Given the description of an element on the screen output the (x, y) to click on. 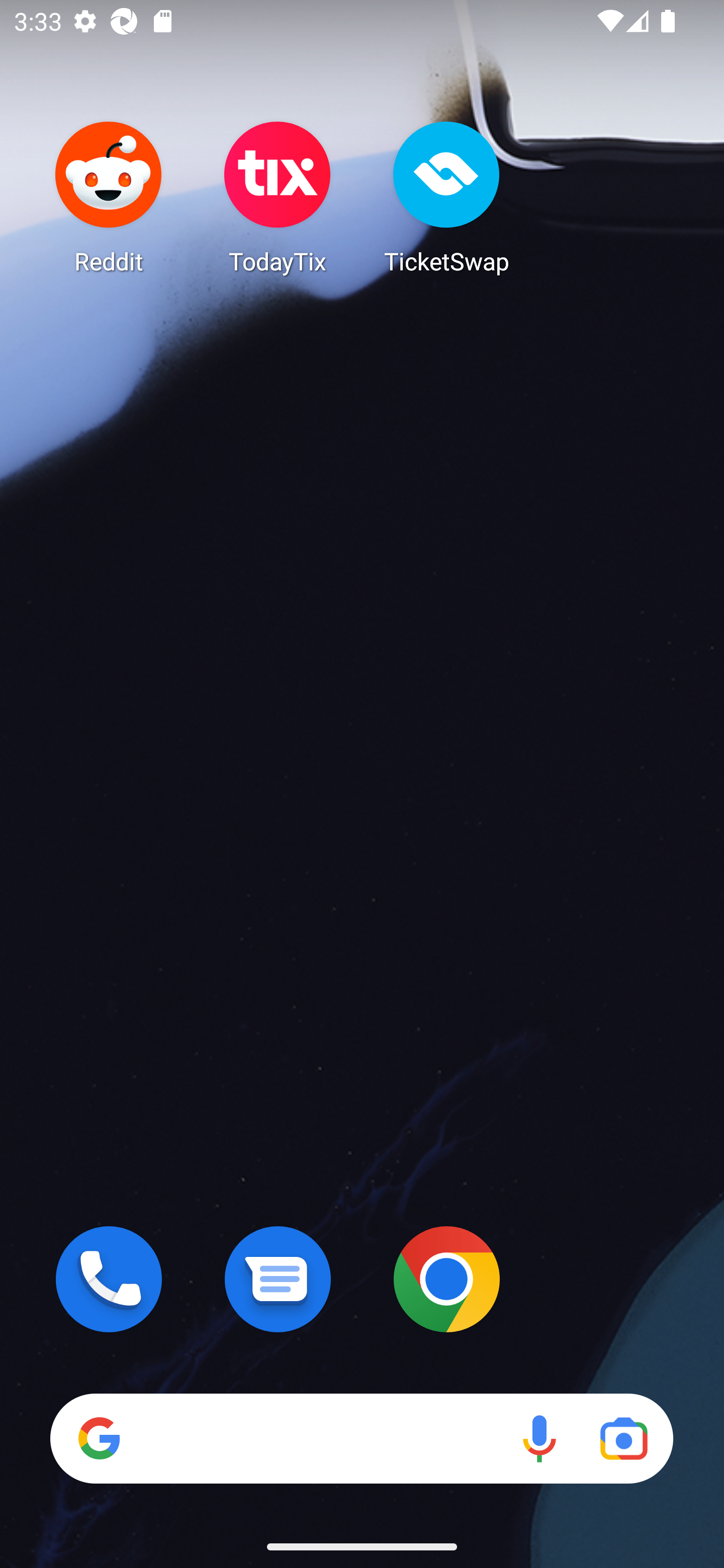
Reddit (108, 196)
TodayTix (277, 196)
TicketSwap (445, 196)
Phone (108, 1279)
Messages (277, 1279)
Chrome (446, 1279)
Voice search (539, 1438)
Google Lens (623, 1438)
